Given the description of an element on the screen output the (x, y) to click on. 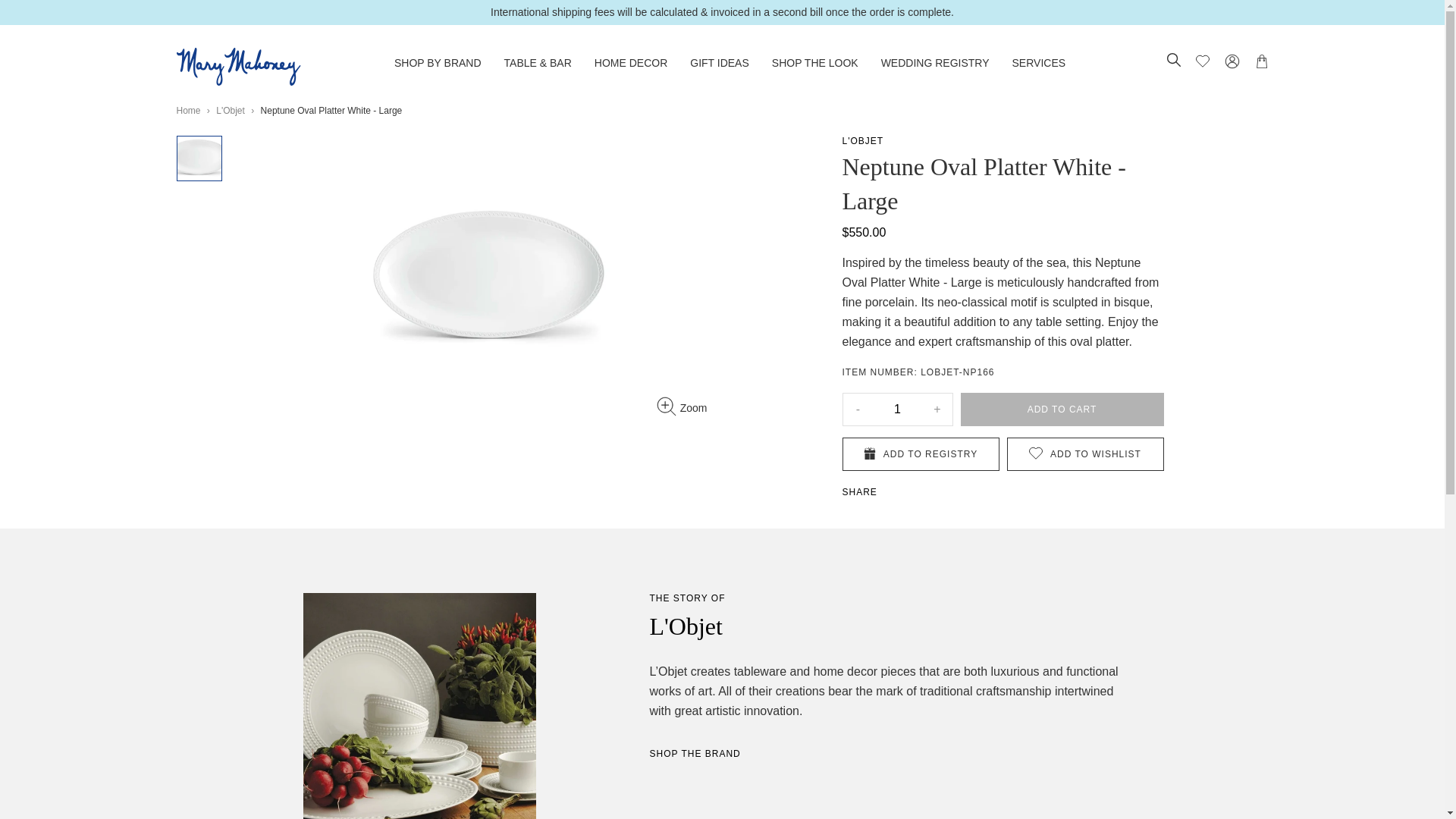
SERVICES (1038, 62)
SHOP THE LOOK  (815, 62)
WEDDING REGISTRY (935, 62)
GIFT IDEAS (719, 62)
Neptune Oval Platter White - Large (198, 157)
SHOP BY BRAND (437, 62)
HOME DECOR (630, 62)
Neptune Oval Platter White - Large (493, 279)
Add To Wishlist (1085, 453)
